Given the description of an element on the screen output the (x, y) to click on. 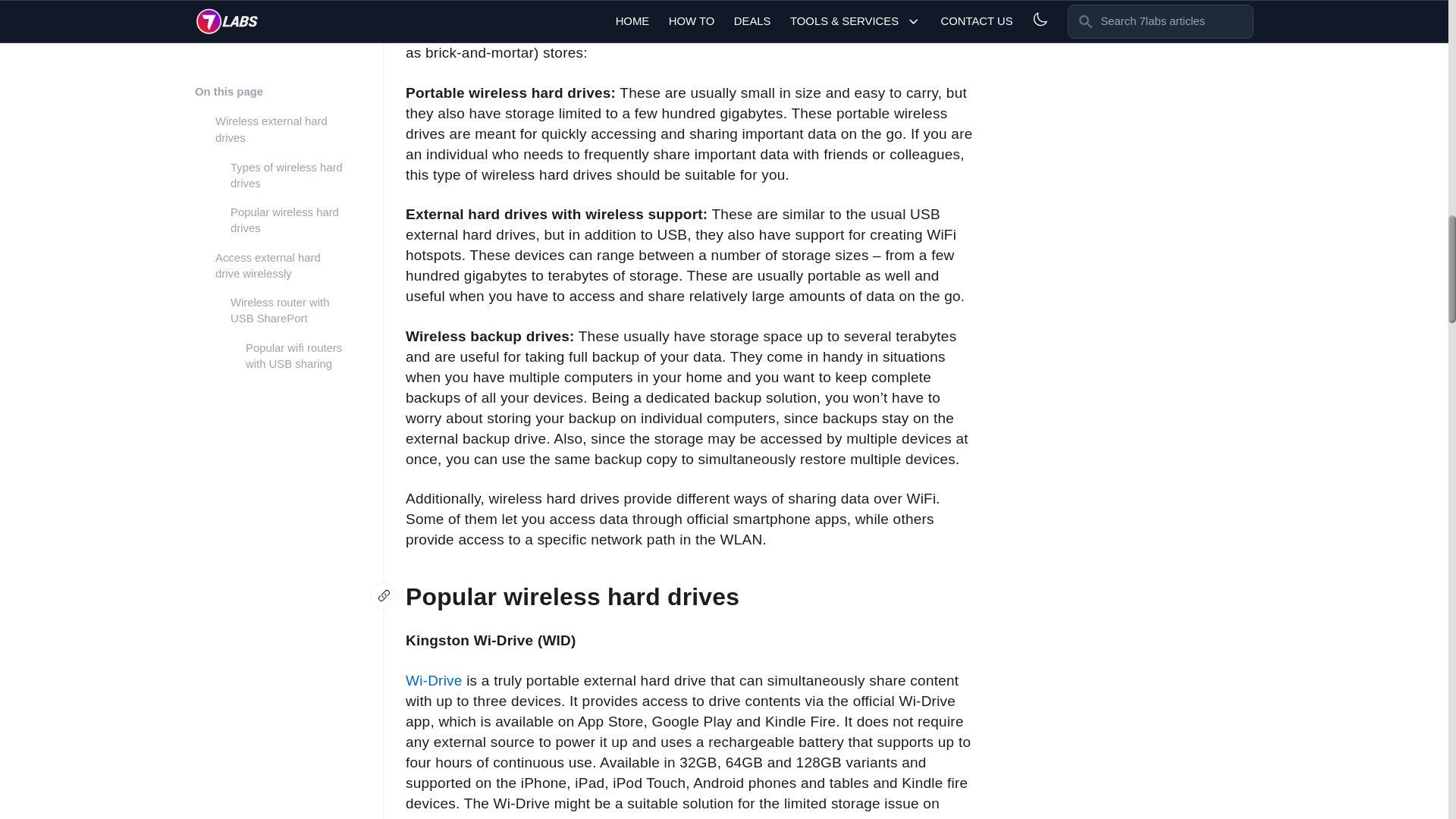
Wi-Drive (434, 680)
